Given the description of an element on the screen output the (x, y) to click on. 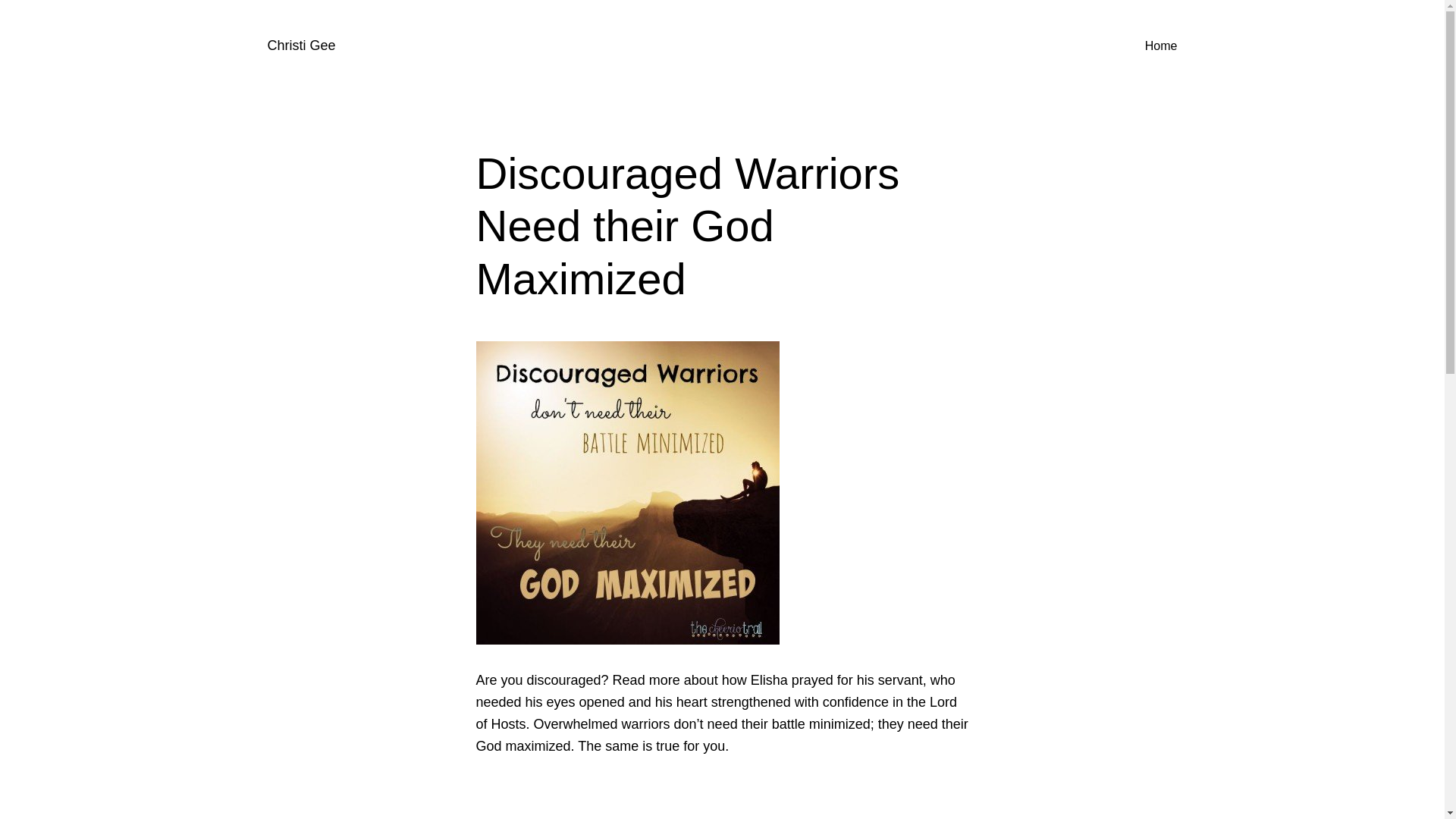
Home (1160, 46)
Christi Gee (300, 45)
